Given the description of an element on the screen output the (x, y) to click on. 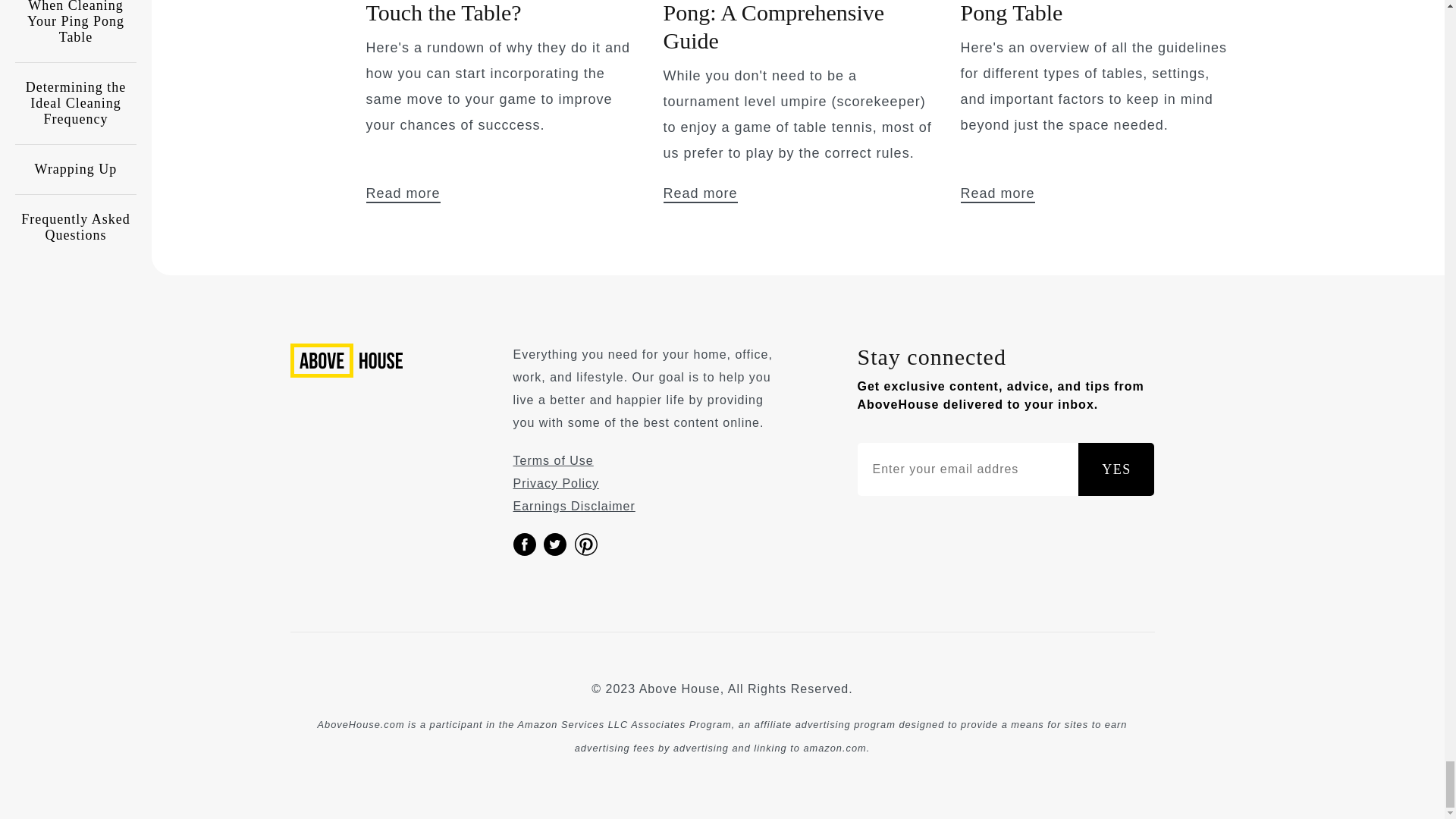
Privacy Policy (555, 482)
Yes (1116, 469)
Read more (699, 193)
Read more (996, 193)
Read more (402, 193)
Terms of Use (552, 460)
Earnings Disclaimer (573, 505)
